Given the description of an element on the screen output the (x, y) to click on. 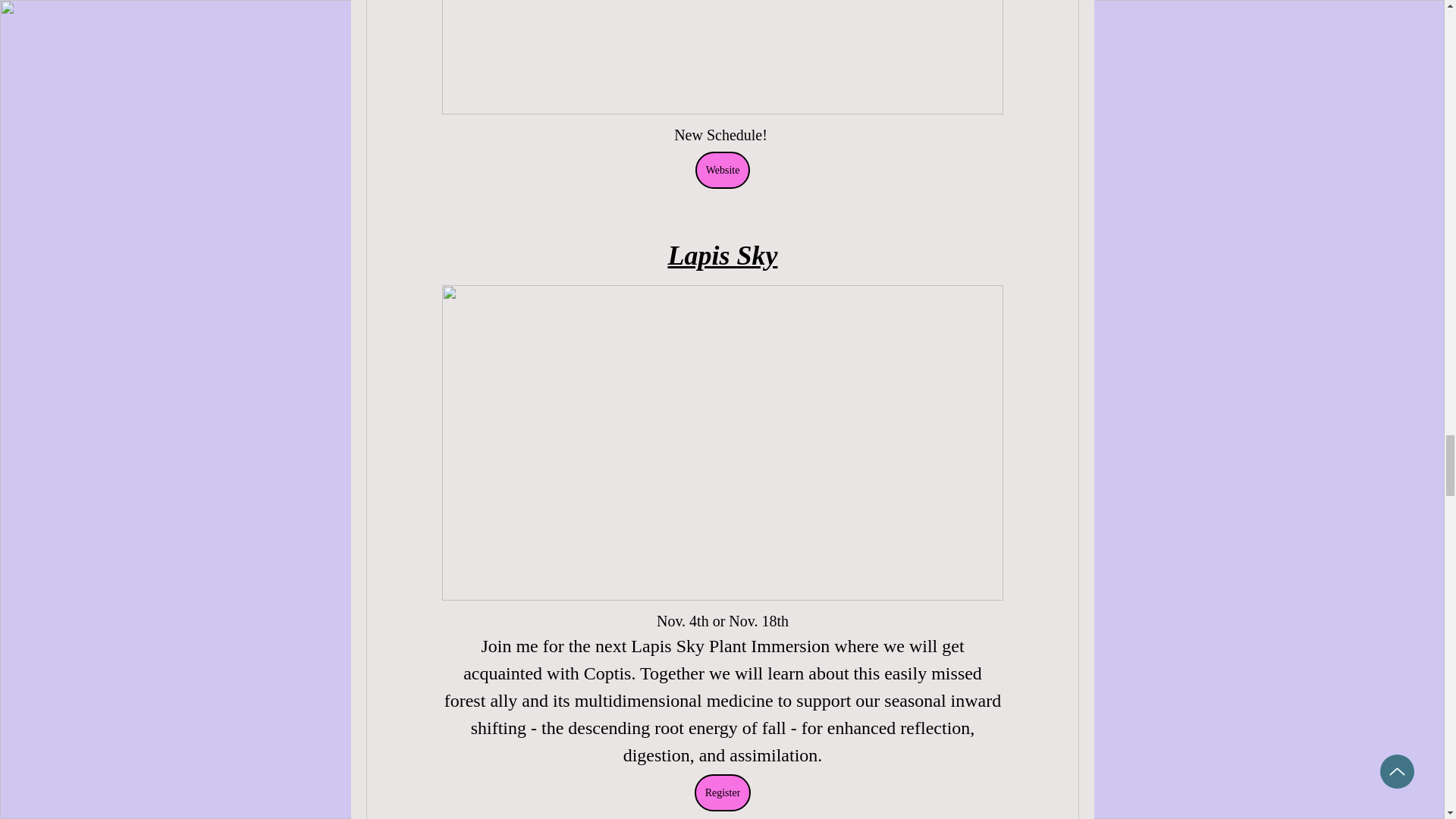
Website (721, 170)
Register (722, 792)
